Given the description of an element on the screen output the (x, y) to click on. 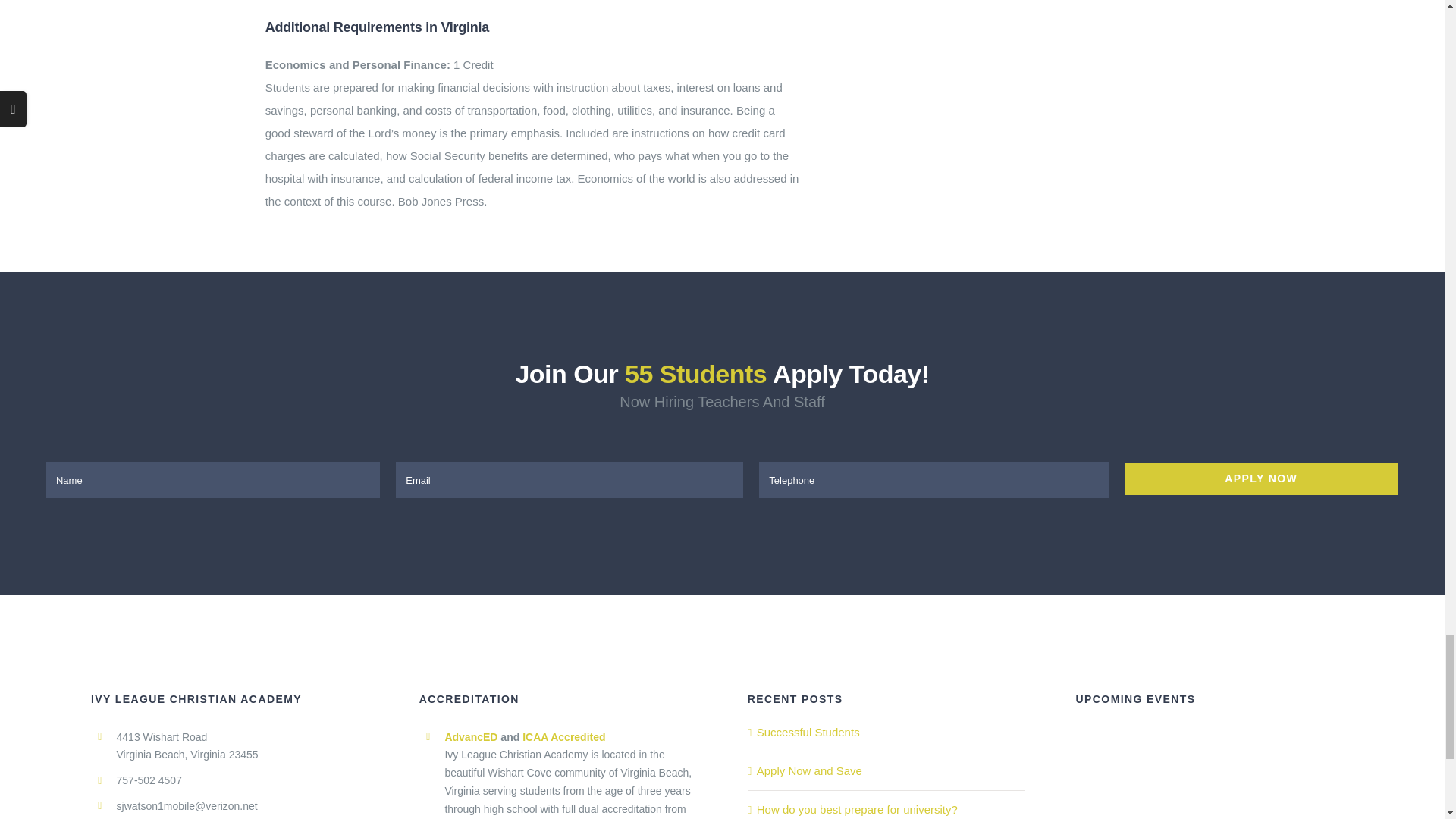
APPLY NOW (722, 479)
